Given the description of an element on the screen output the (x, y) to click on. 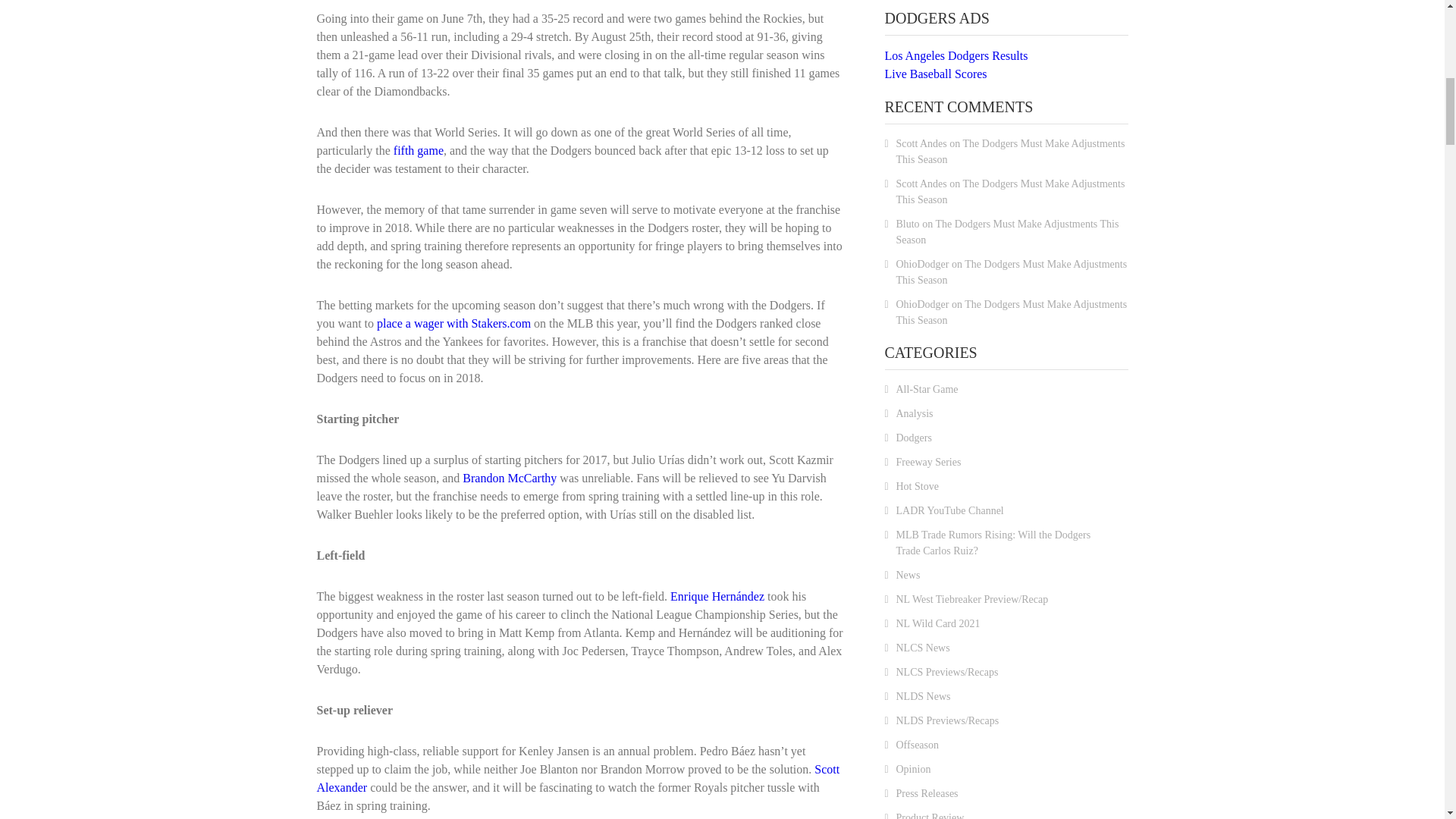
Brandon McCarthy (509, 477)
fifth game (418, 150)
place a wager with Stakers.com (454, 323)
Scott Alexander (578, 777)
